Given the description of an element on the screen output the (x, y) to click on. 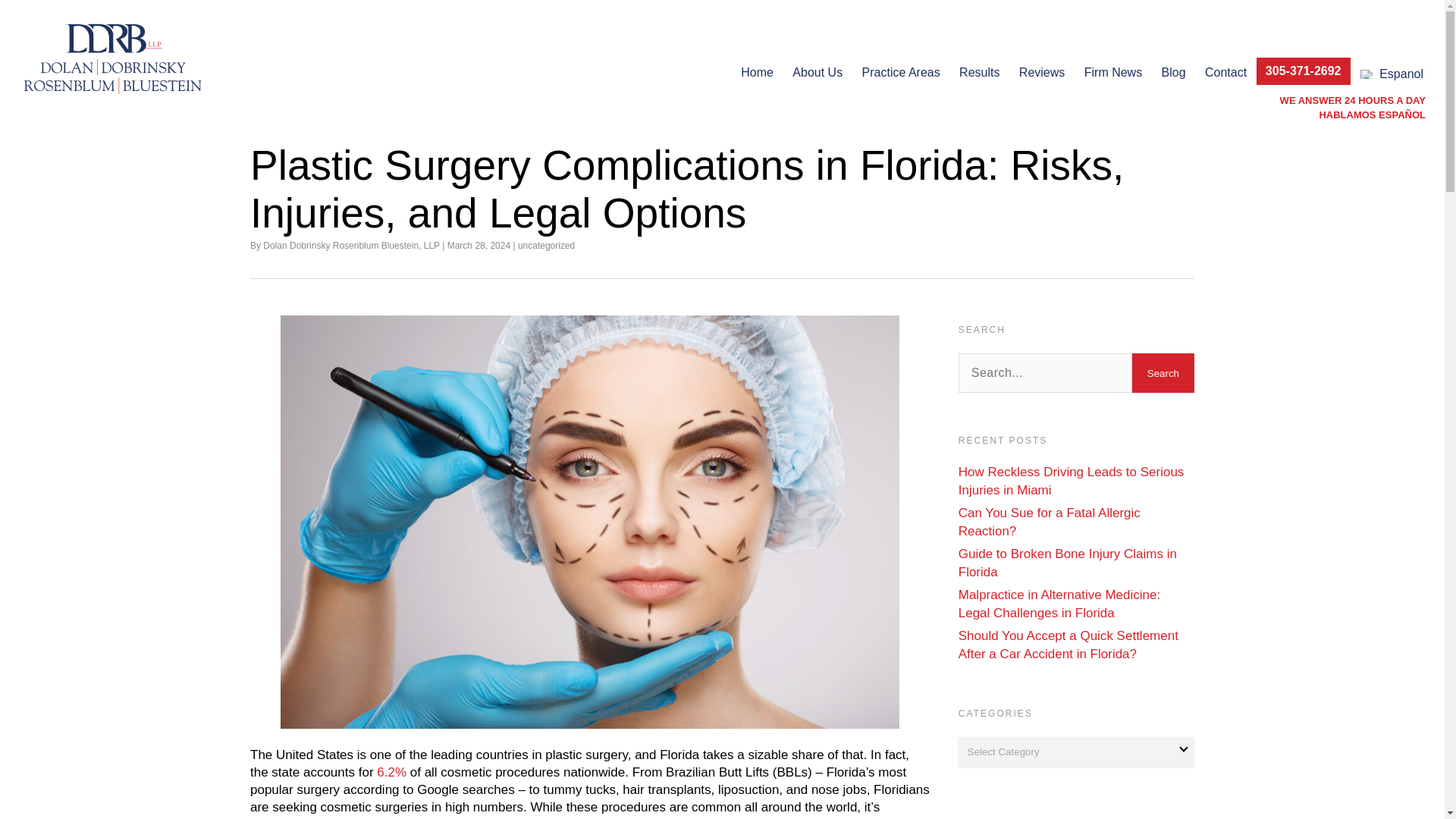
Contact (1225, 69)
About Us (817, 69)
Search (1162, 372)
How Reckless Driving Leads to Serious Injuries in Miami (1071, 481)
uncategorized (546, 245)
Firm News (1112, 69)
Can You Sue for a Fatal Allergic Reaction? (1049, 522)
Home (757, 69)
Espanol (1391, 74)
Reviews (1041, 69)
